Given the description of an element on the screen output the (x, y) to click on. 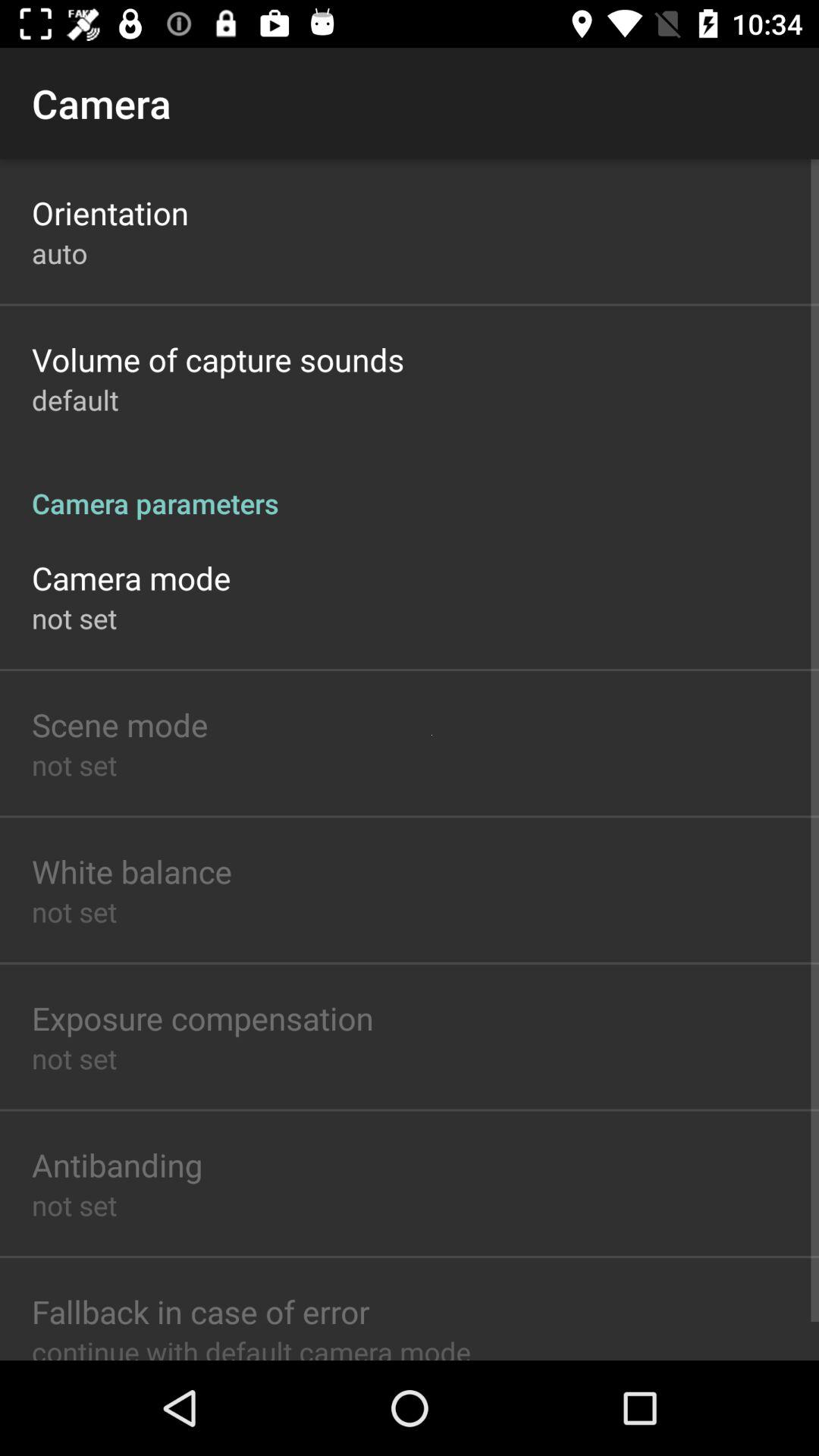
tap app below the not set icon (200, 1311)
